Given the description of an element on the screen output the (x, y) to click on. 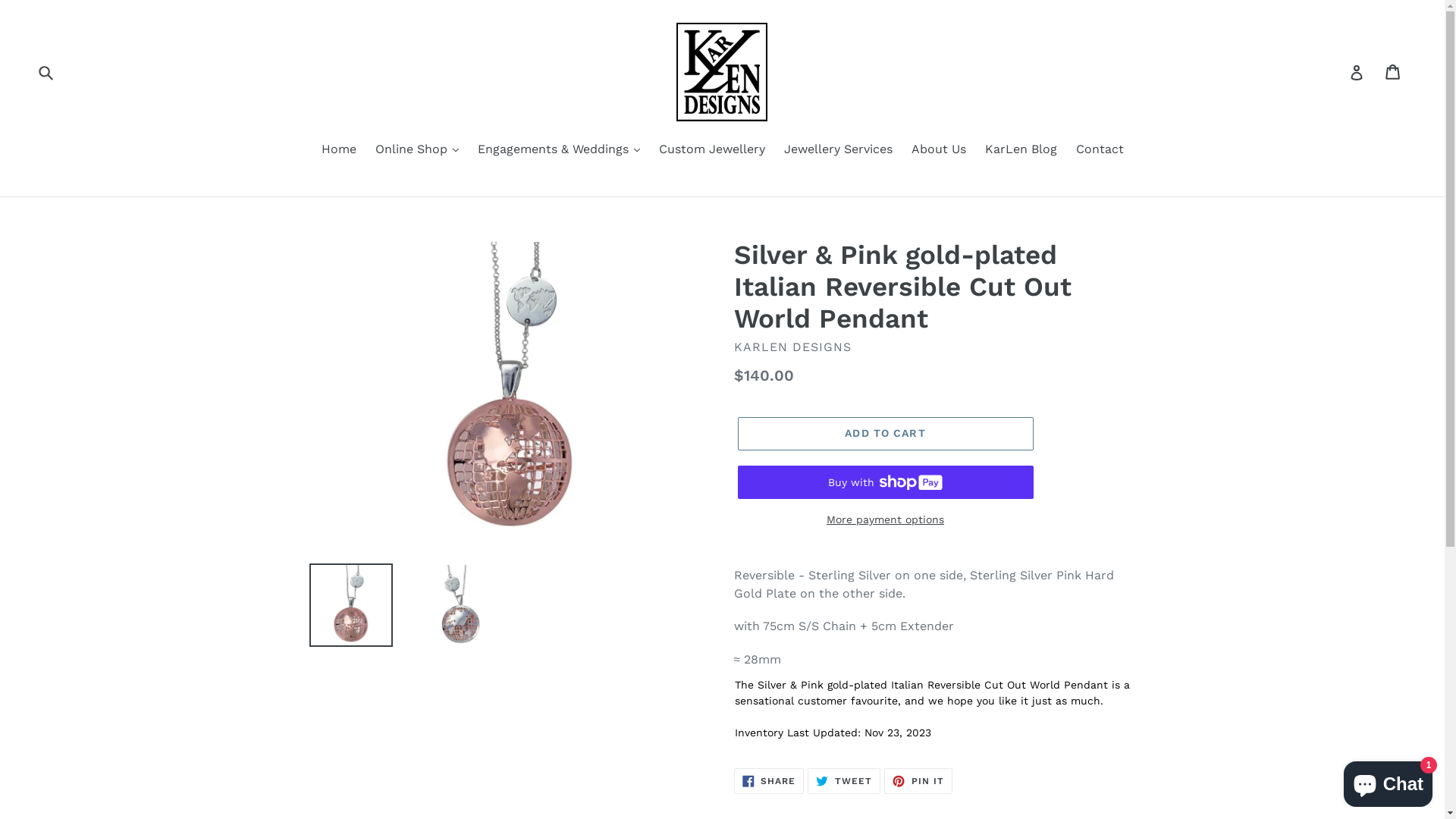
TWEET
TWEET ON TWITTER Element type: text (843, 780)
PIN IT
PIN ON PINTEREST Element type: text (918, 780)
About Us Element type: text (938, 150)
Custom Jewellery Element type: text (710, 150)
Cart Element type: text (1393, 72)
Jewellery Services Element type: text (838, 150)
Shopify online store chat Element type: hover (1388, 780)
SHARE
SHARE ON FACEBOOK Element type: text (769, 780)
KarLen Blog Element type: text (1019, 150)
Log in Element type: text (1356, 71)
Submit Element type: text (46, 71)
Contact Element type: text (1098, 150)
ADD TO CART Element type: text (884, 433)
More payment options Element type: text (884, 519)
Home Element type: text (338, 150)
